Given the description of an element on the screen output the (x, y) to click on. 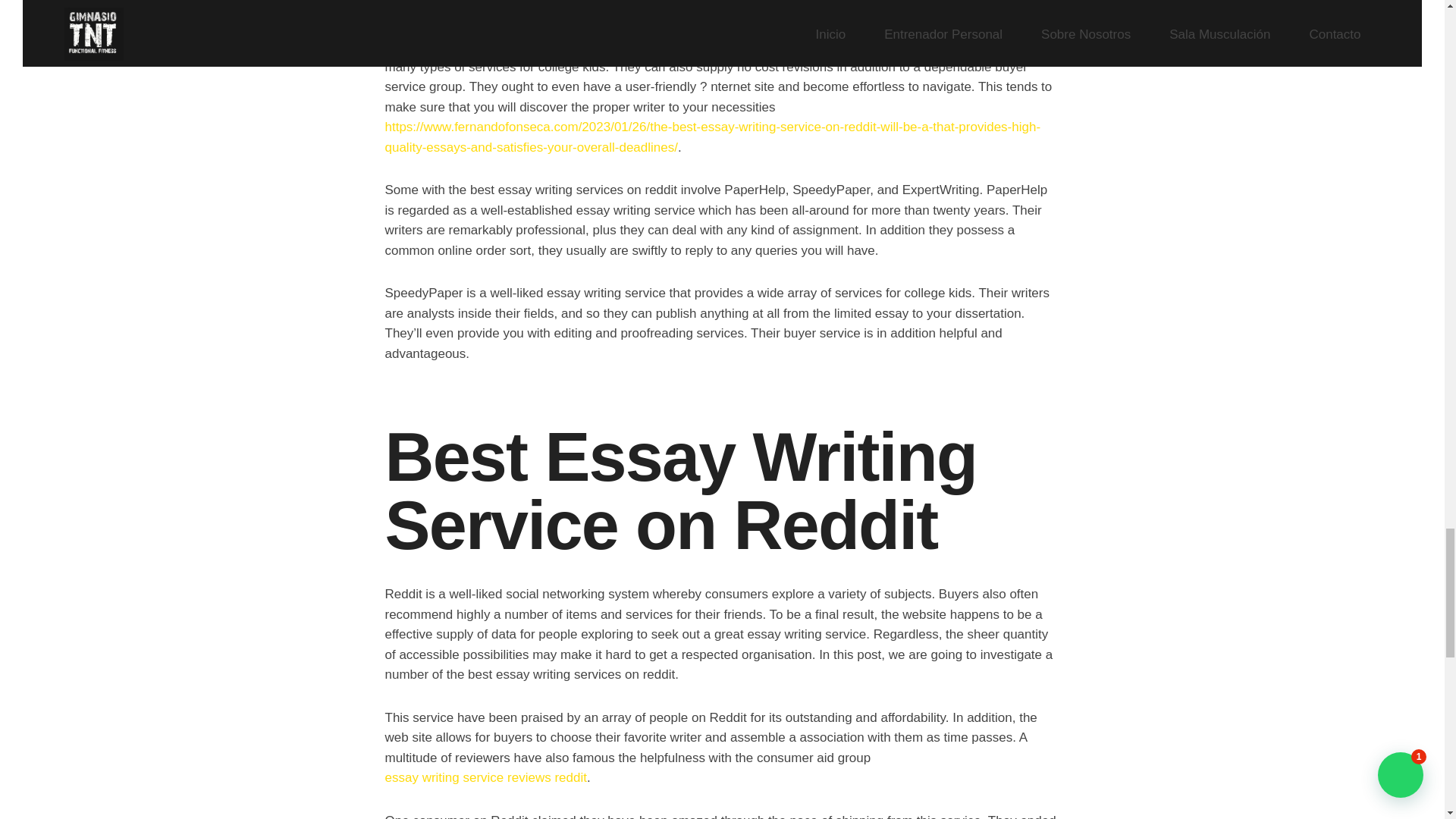
essay writing service reviews reddit (485, 777)
